Given the description of an element on the screen output the (x, y) to click on. 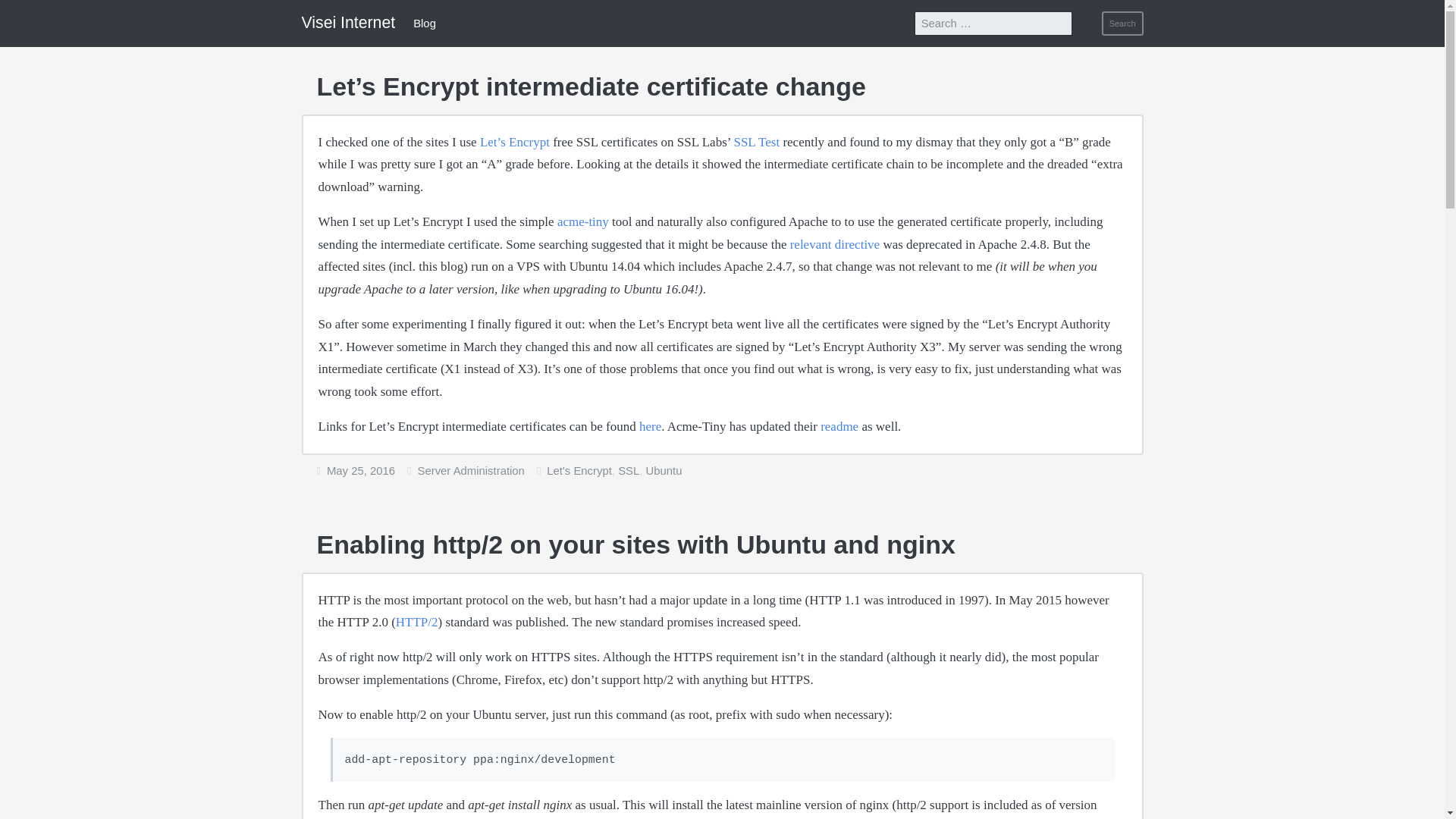
Search (1122, 23)
Blog (424, 23)
Let's Encrypt (579, 470)
Server Administration (470, 470)
Visei Internet (348, 22)
Blog (424, 23)
Ubuntu (664, 470)
SSL (628, 470)
May 25, 2016 (360, 470)
Search (1122, 23)
acme-tiny (582, 221)
readme (840, 426)
here (650, 426)
Search (1122, 23)
relevant directive (834, 244)
